Given the description of an element on the screen output the (x, y) to click on. 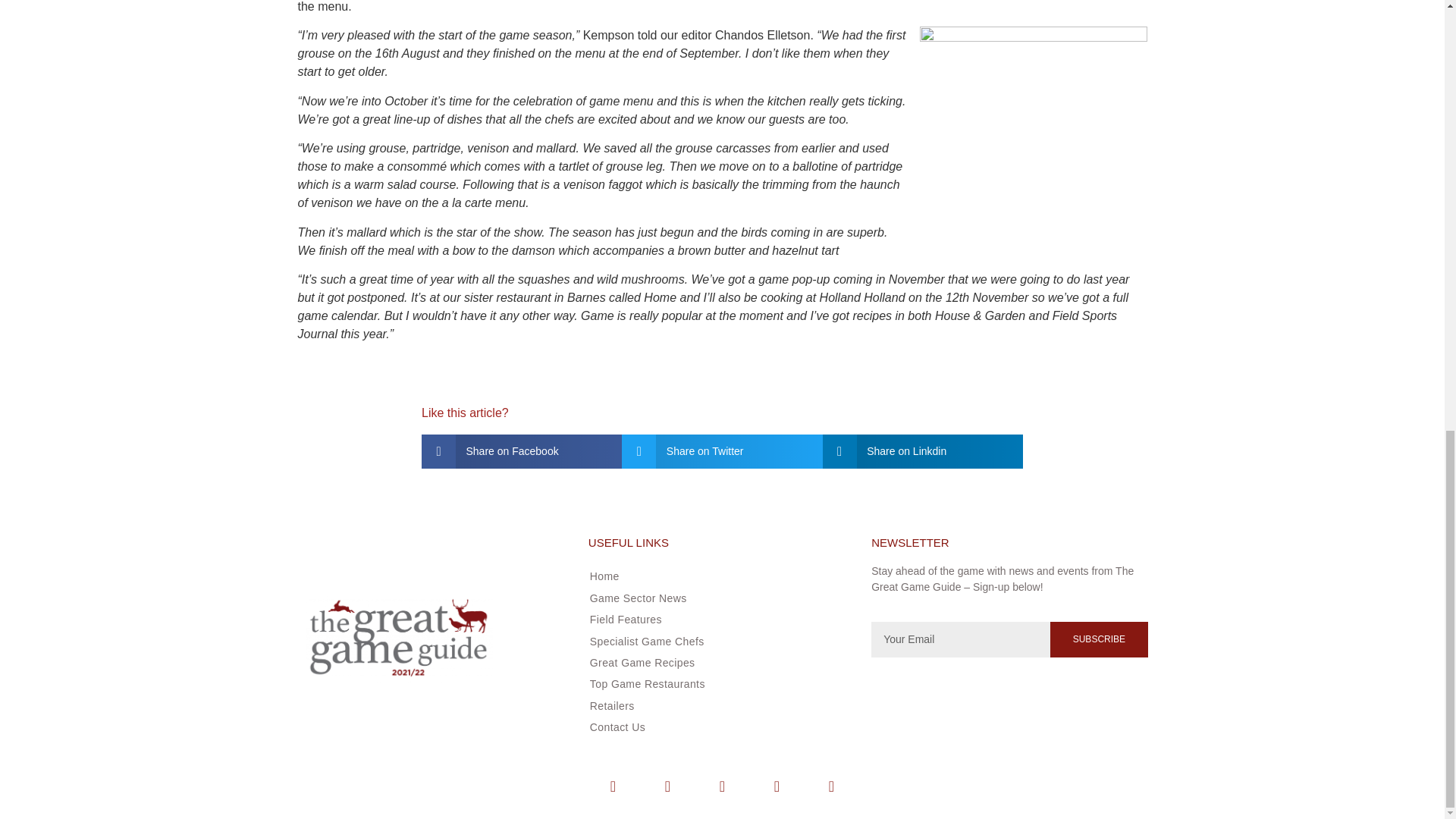
Home (715, 575)
Game Sector News (715, 597)
